Given the description of an element on the screen output the (x, y) to click on. 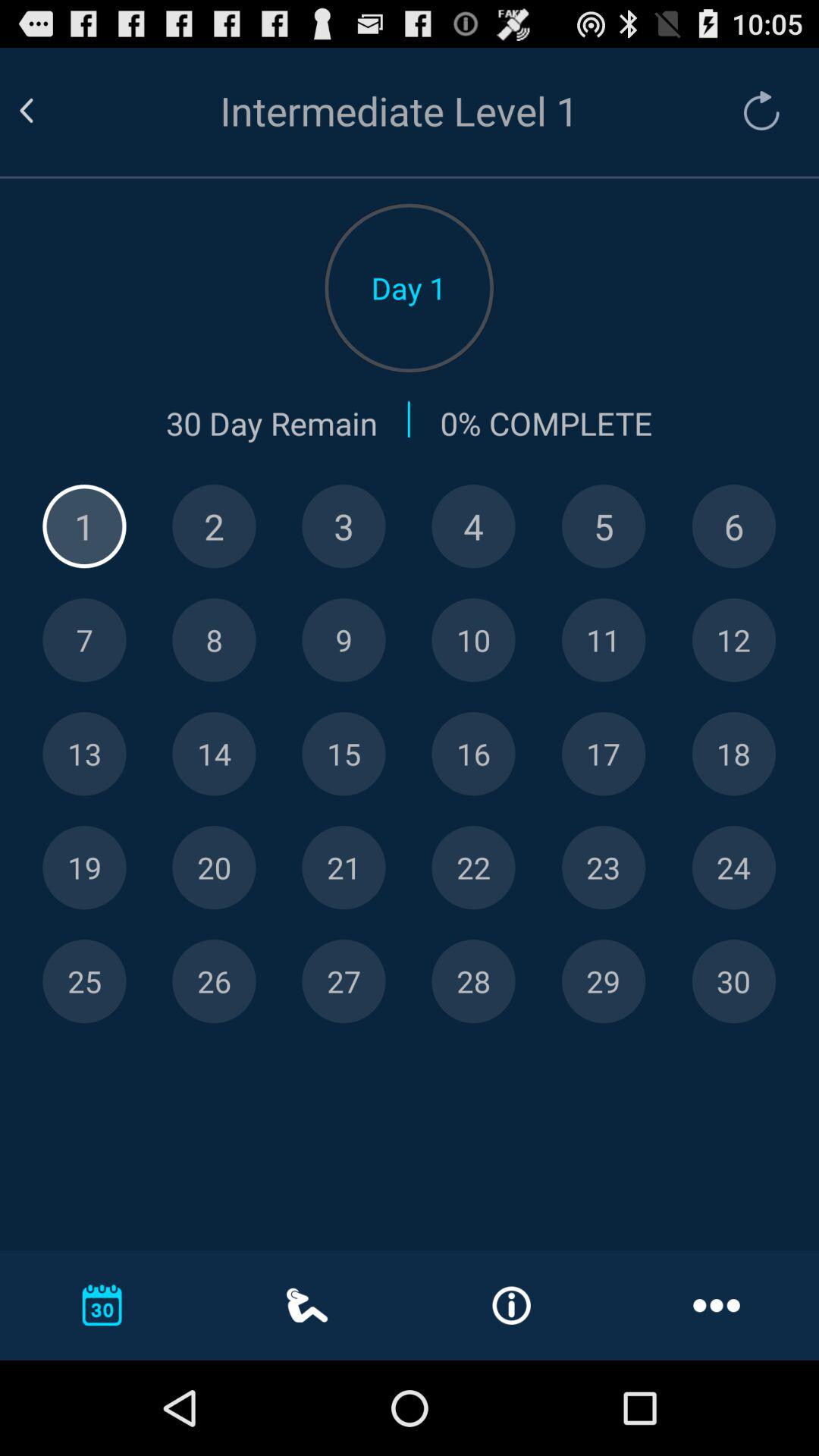
show day 28 (473, 981)
